Given the description of an element on the screen output the (x, y) to click on. 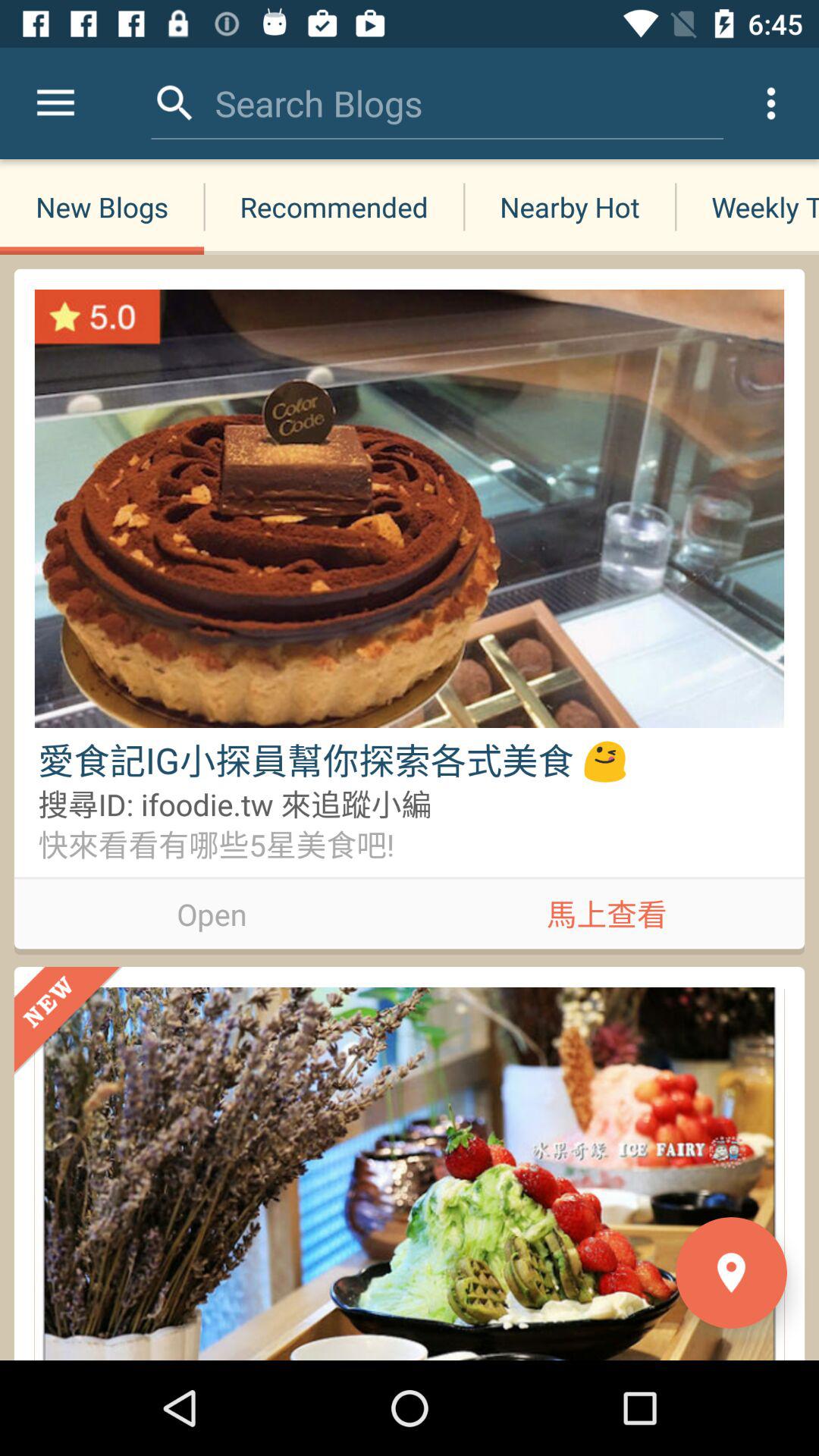
press the icon next to the open icon (606, 910)
